Given the description of an element on the screen output the (x, y) to click on. 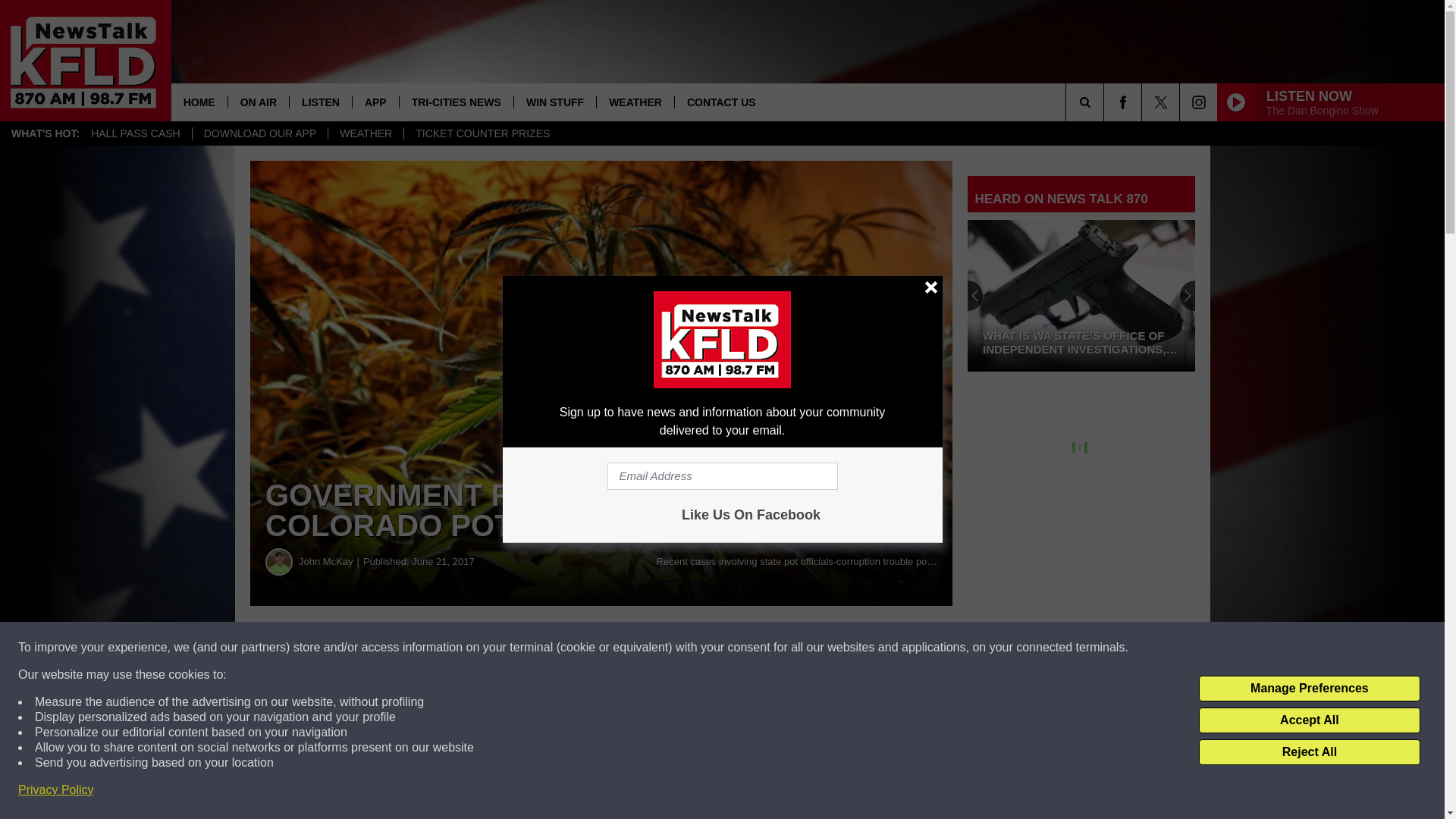
Reject All (1309, 751)
Manage Preferences (1309, 688)
SEARCH (1106, 102)
DOWNLOAD OUR APP (260, 133)
WEATHER (634, 102)
WIN STUFF (554, 102)
HALL PASS CASH (136, 133)
TRI-CITIES NEWS (455, 102)
Share on Facebook (460, 647)
Email Address (722, 475)
Privacy Policy (55, 789)
TICKET COUNTER PRIZES (481, 133)
Share on Twitter (741, 647)
LISTEN (320, 102)
WEATHER (365, 133)
